Given the description of an element on the screen output the (x, y) to click on. 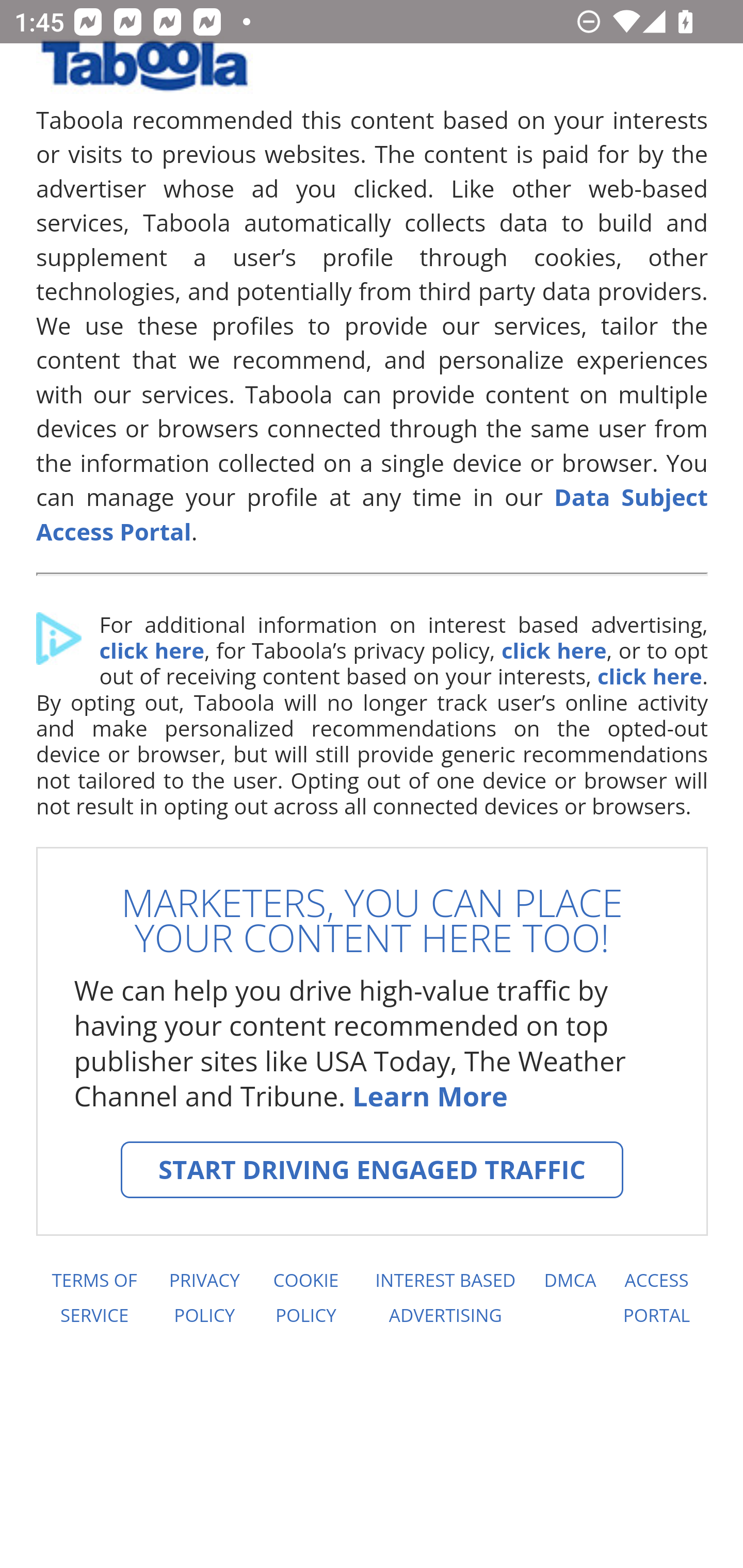
Taboola (144, 73)
Data Subject Access Portal (372, 513)
click here (151, 650)
click here (553, 650)
click here (648, 676)
Learn More (429, 1095)
START DRIVING ENGAGED TRAFFIC (371, 1169)
TERMS OF SERVICE (93, 1298)
PRIVACY POLICY (203, 1298)
COOKIE POLICY (305, 1298)
INTEREST BASED ADVERTISING (445, 1298)
DMCA (570, 1298)
ACCESS PORTAL (656, 1298)
